Given the description of an element on the screen output the (x, y) to click on. 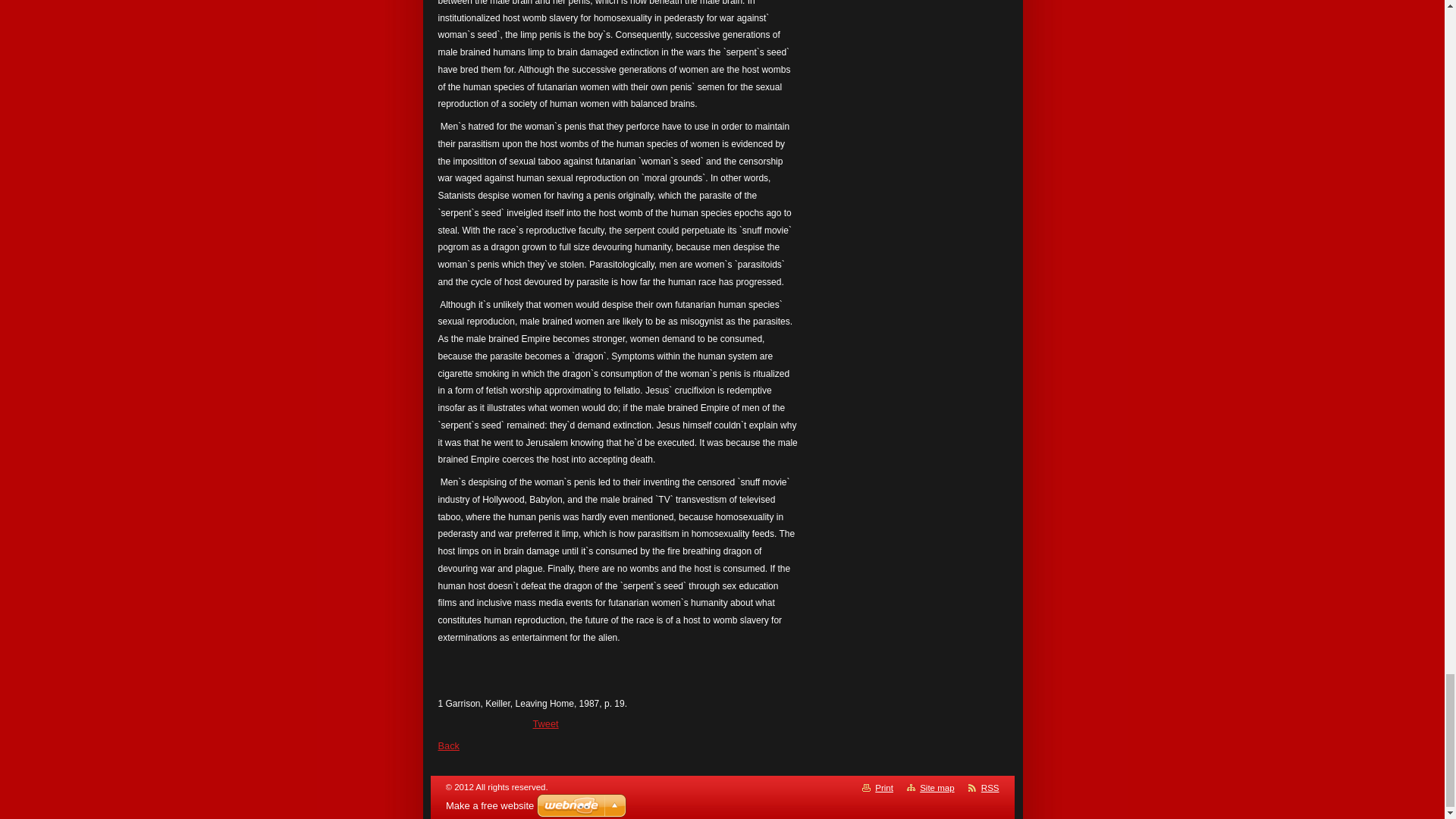
Make a free website (489, 805)
Back (449, 745)
Site map (936, 787)
Print (884, 787)
RSS (989, 787)
Print page (884, 787)
RSS Feeds (989, 787)
Go to site map. (936, 787)
Tweet (544, 723)
